Given the description of an element on the screen output the (x, y) to click on. 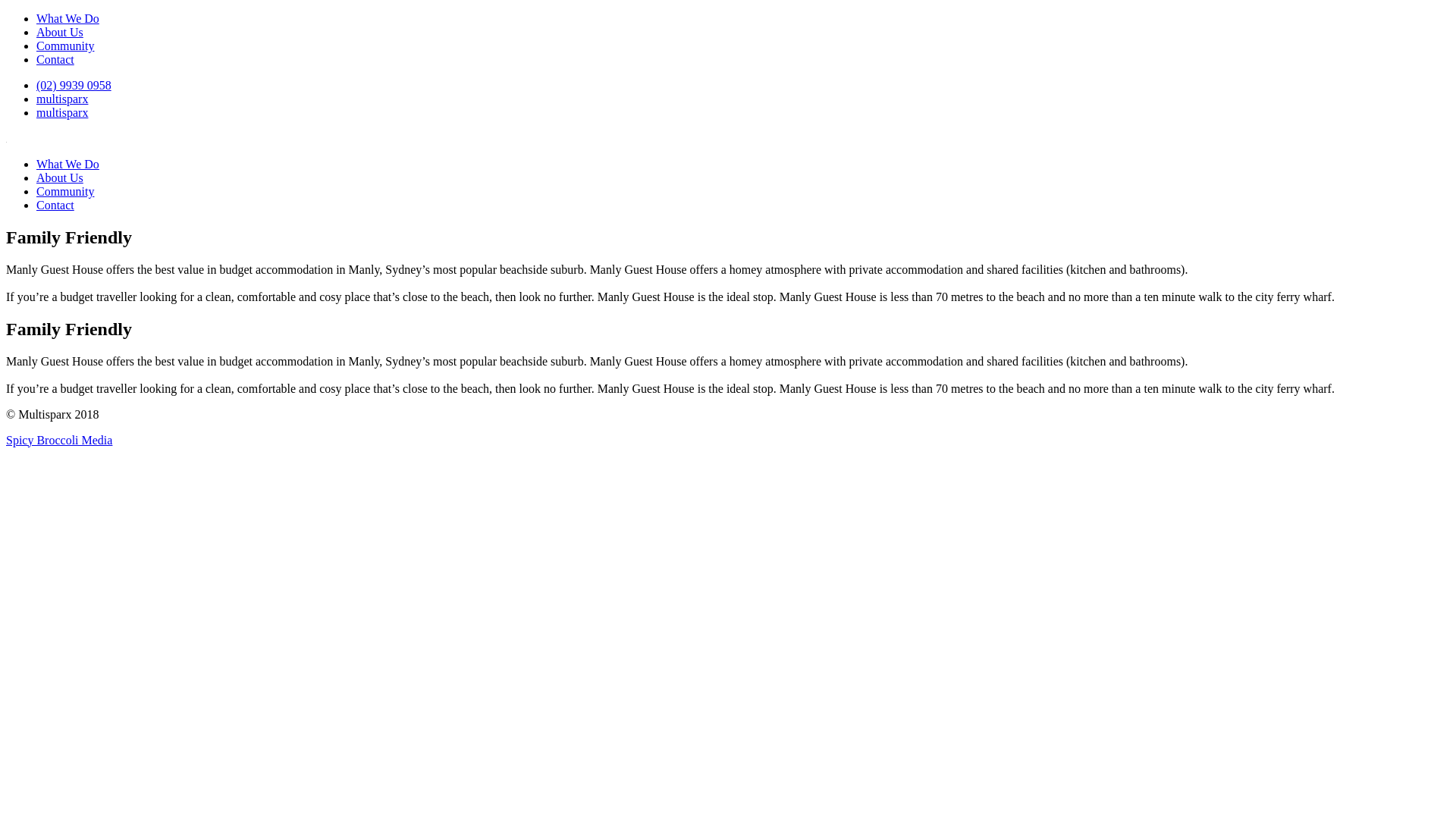
Contact Element type: text (55, 204)
Contact Element type: text (55, 59)
Community Element type: text (65, 45)
About Us Element type: text (59, 31)
What We Do Element type: text (67, 18)
Community Element type: text (65, 191)
What We Do Element type: text (67, 163)
multisparx Element type: text (61, 112)
About Us Element type: text (59, 177)
multisparx Element type: text (61, 98)
Spicy Broccoli Media Element type: text (59, 439)
(02) 9939 0958 Element type: text (73, 84)
